Given the description of an element on the screen output the (x, y) to click on. 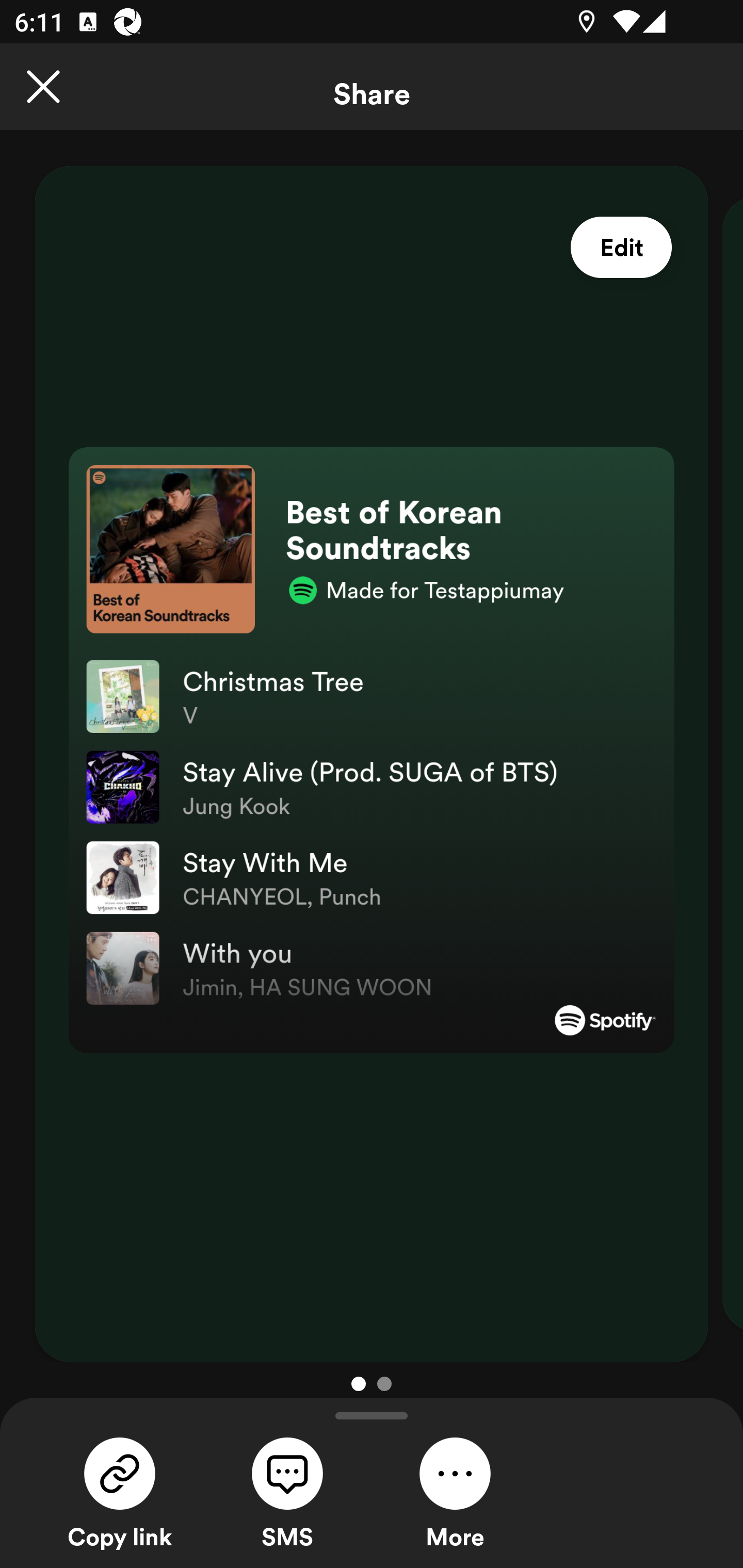
Close the Now Playing View (43, 86)
Edit (620, 247)
Copy share link Copy link (119, 1491)
Share over SMS SMS (287, 1491)
More sharing options More (455, 1491)
